Given the description of an element on the screen output the (x, y) to click on. 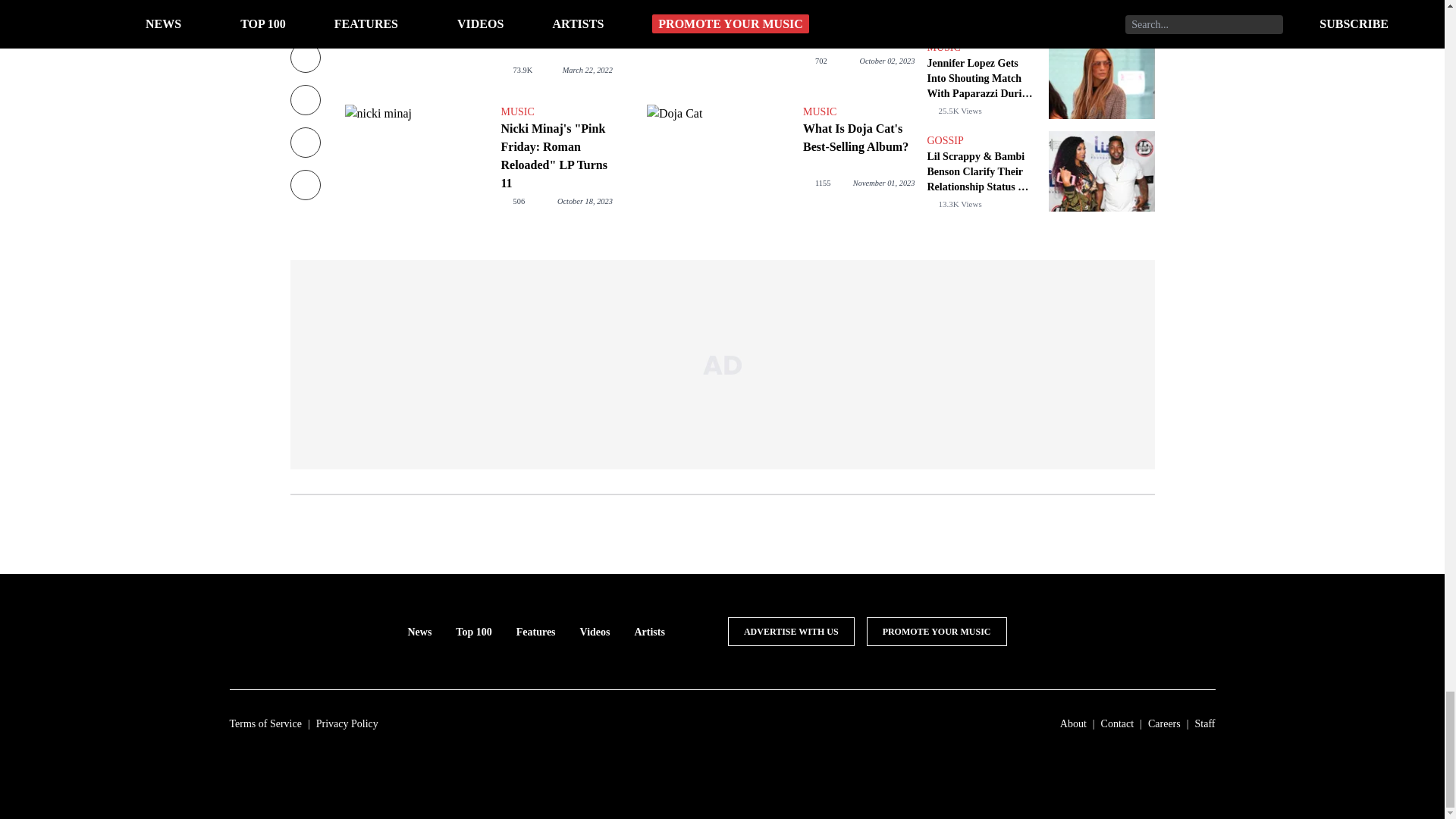
Nicki Minaj's "Pink Friday" LP Turns 13 (718, 44)
Nicki Minaj's "Pink Friday: Roman Reloaded" LP Turns 11 (415, 157)
October 02, 2023 (886, 60)
Why Nicki Minaj Is One Of The Greatest Of All Time (415, 44)
Why Nicki Minaj Is One Of The Greatest Of All Time (555, 26)
October 18, 2023 (584, 201)
MUSIC (858, 111)
What Is Doja Cat's Best-Selling Album? (718, 157)
Nicki Minaj's "Pink Friday: Roman Reloaded" LP Turns 11 (555, 155)
Nicki Minaj's "Pink Friday" LP Turns 13 (858, 17)
MUSIC (555, 111)
March 22, 2022 (587, 70)
November 01, 2023 (884, 183)
